Given the description of an element on the screen output the (x, y) to click on. 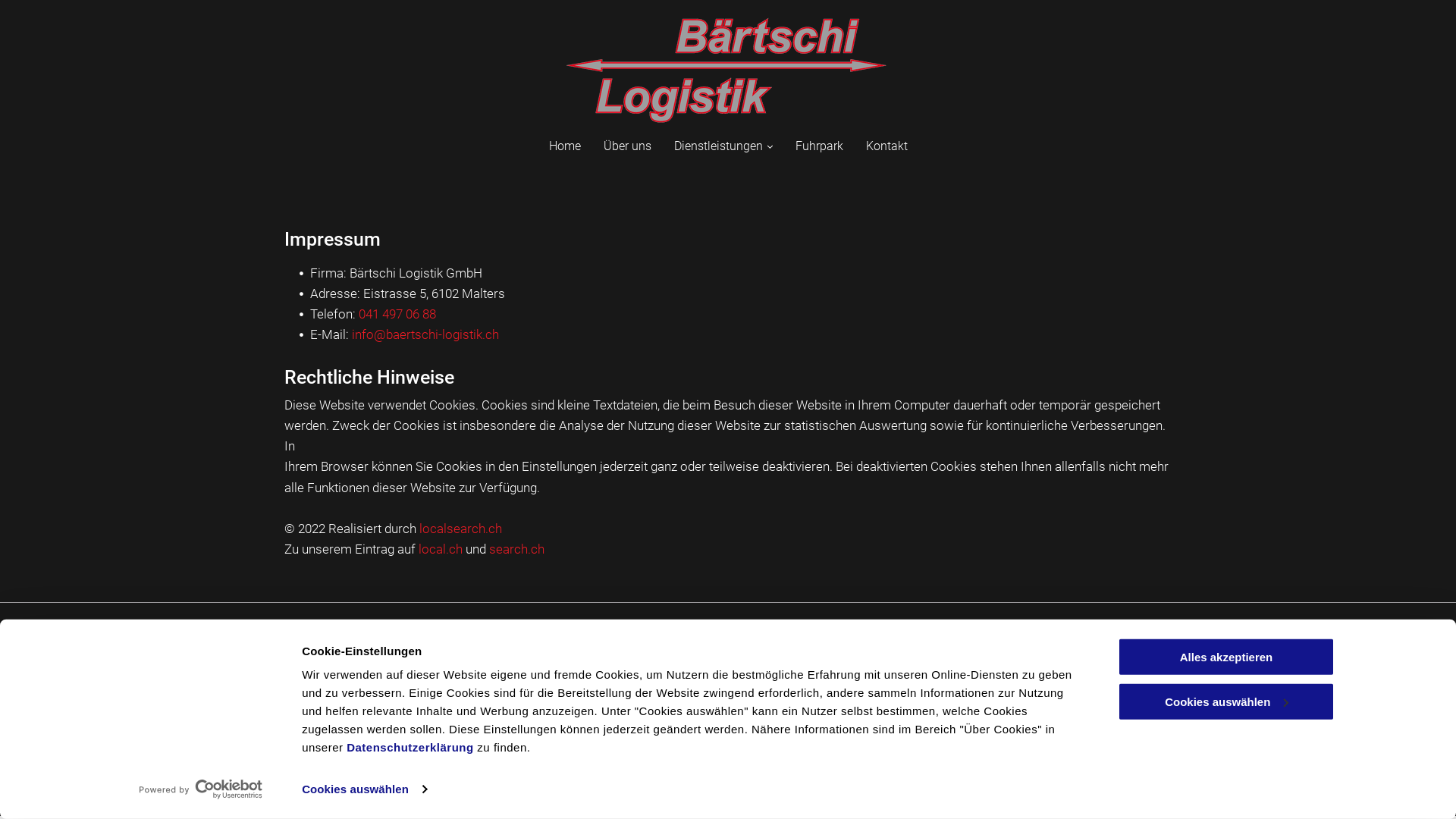
041 497 06 88 Element type: text (555, 667)
info@baertschi-logistik.ch Element type: text (584, 704)
Alles akzeptieren Element type: text (1225, 656)
search.ch Element type: text (516, 548)
041 497 06 88 Element type: text (397, 313)
info@baertschi-logistik.ch Element type: text (424, 334)
localsearch.ch Element type: text (460, 528)
Home Element type: text (563, 145)
Dienstleistungen Element type: text (723, 145)
Fuhrpark Element type: text (819, 145)
Impressum Element type: text (1131, 650)
Kontakt Element type: text (885, 145)
local.ch Element type: text (440, 548)
